Given the description of an element on the screen output the (x, y) to click on. 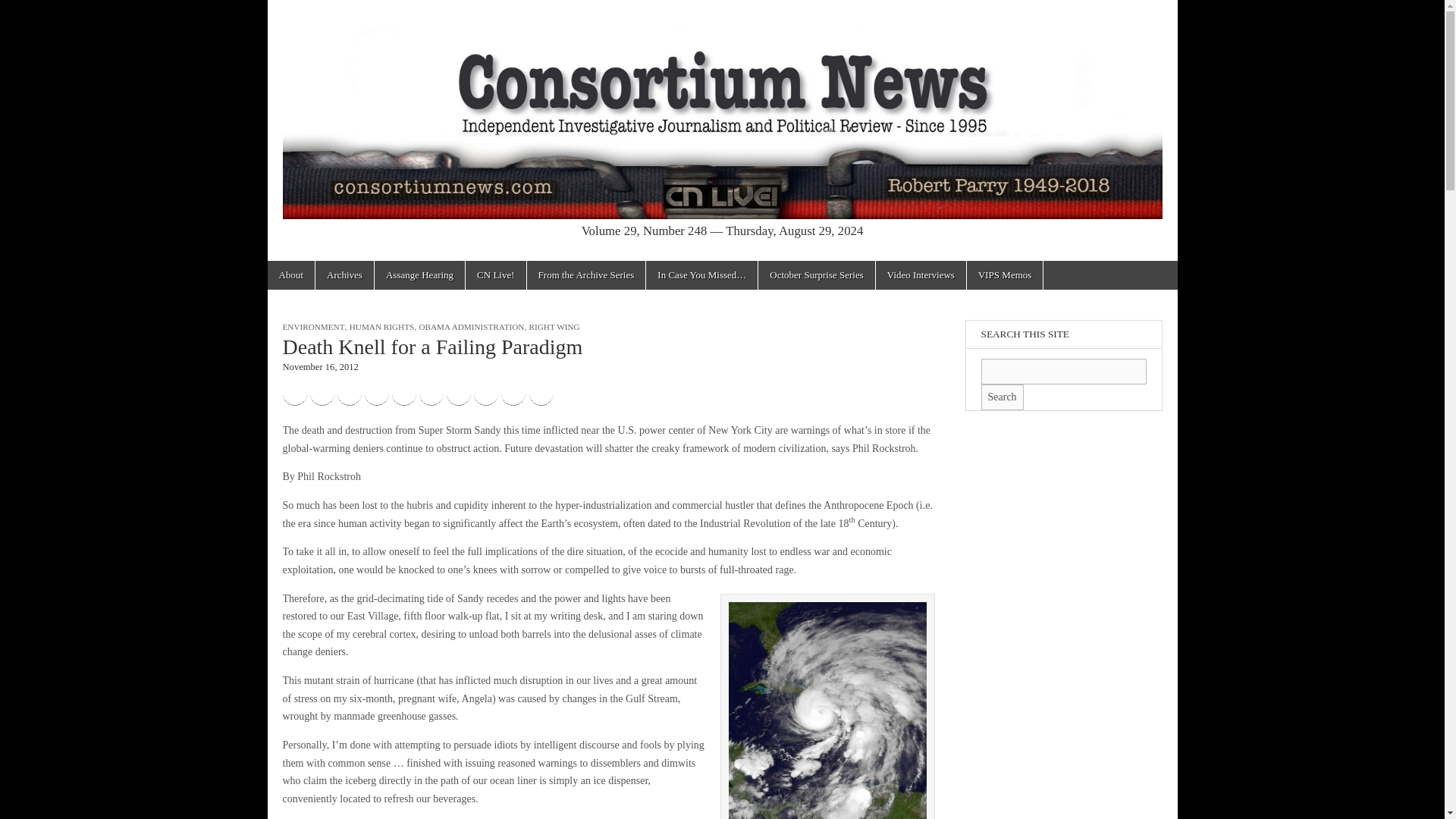
Share to Tumblr (485, 393)
Share to Reddit (402, 393)
ENVIRONMENT (312, 326)
RIGHT WING (554, 326)
October Surprise Series (816, 275)
Share to StumbleUpon (457, 393)
Video Interviews (921, 275)
Share to Digg (376, 393)
Share to Facebook (293, 393)
CN Live! (495, 275)
